Given the description of an element on the screen output the (x, y) to click on. 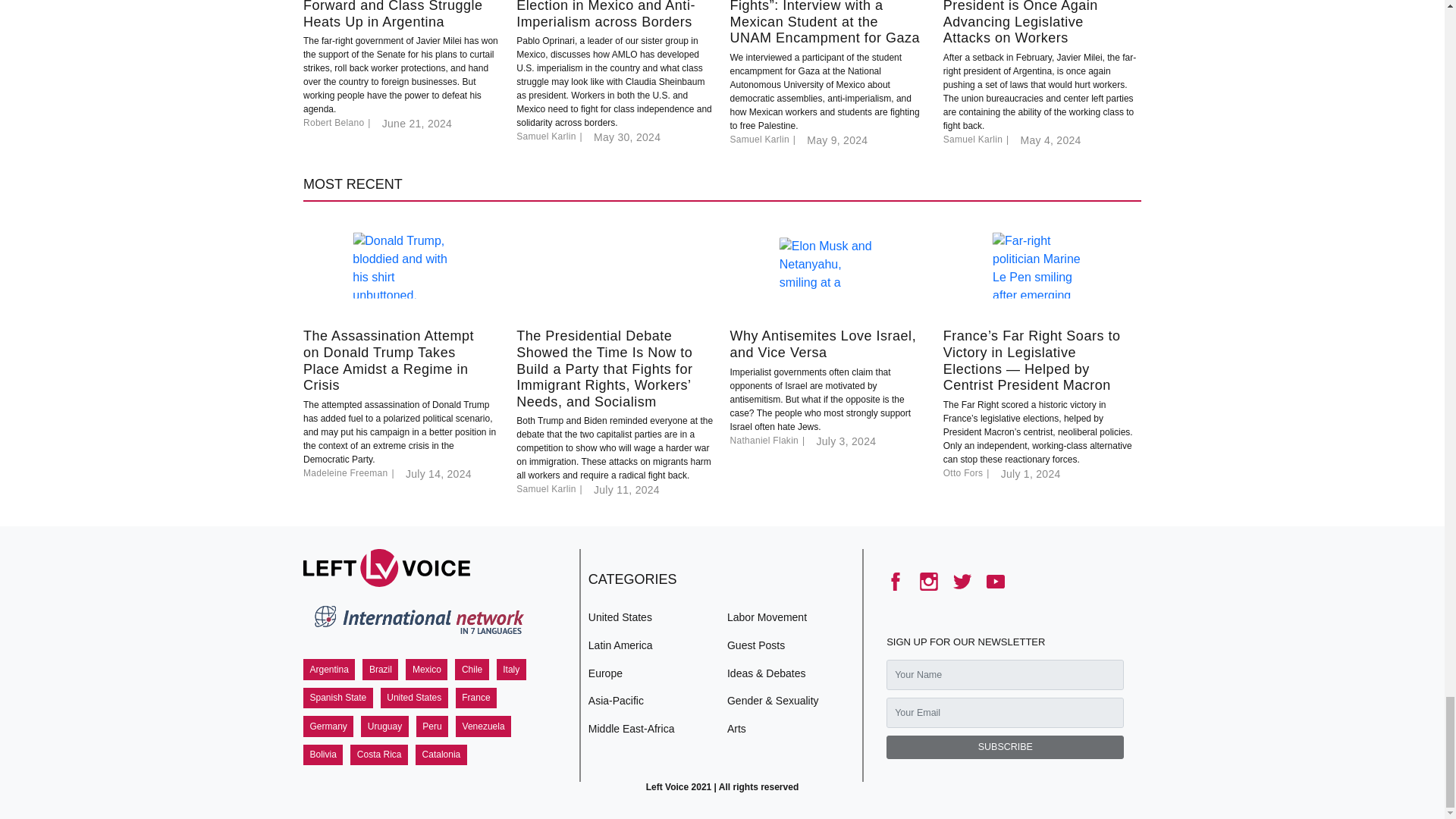
International Network (417, 622)
Left Voice (386, 567)
